Given the description of an element on the screen output the (x, y) to click on. 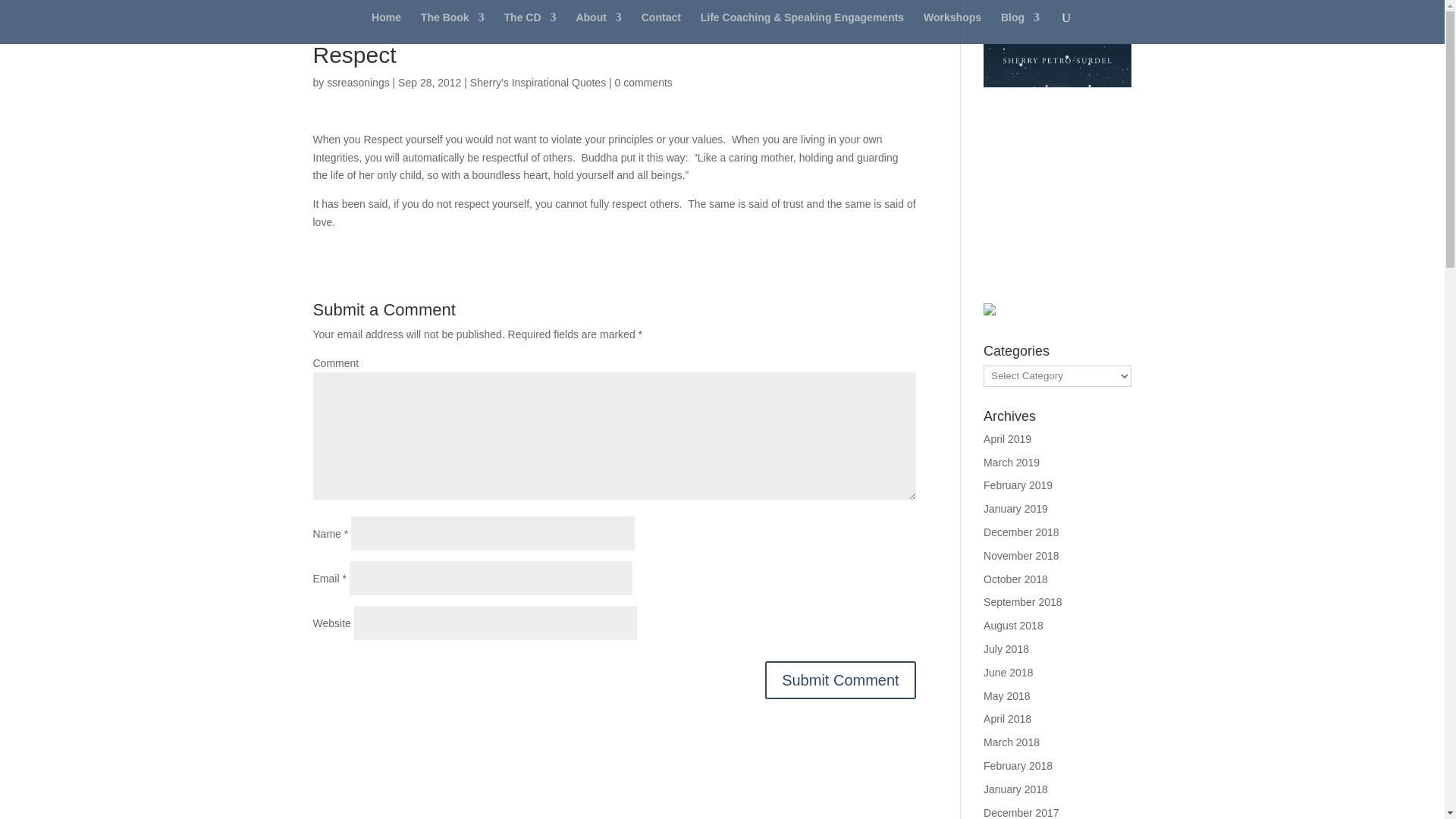
0 comments (643, 82)
The Book (452, 28)
Submit Comment (840, 679)
The CD (529, 28)
July 2018 (1006, 648)
Blog (1020, 28)
Workshops (952, 28)
December 2018 (1021, 532)
February 2019 (1018, 485)
Submit Comment (840, 679)
